Given the description of an element on the screen output the (x, y) to click on. 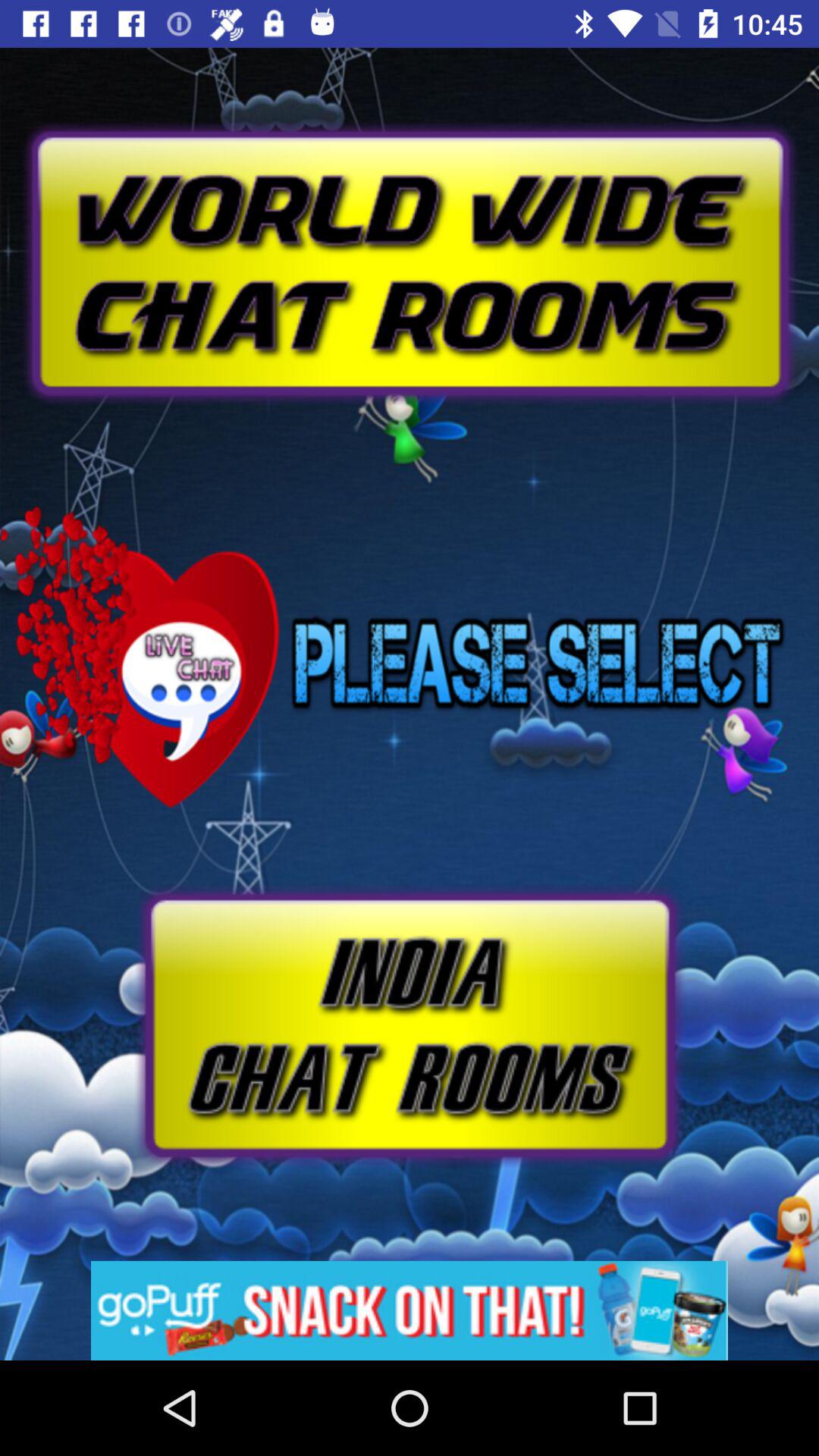
advertisent page (409, 227)
